Given the description of an element on the screen output the (x, y) to click on. 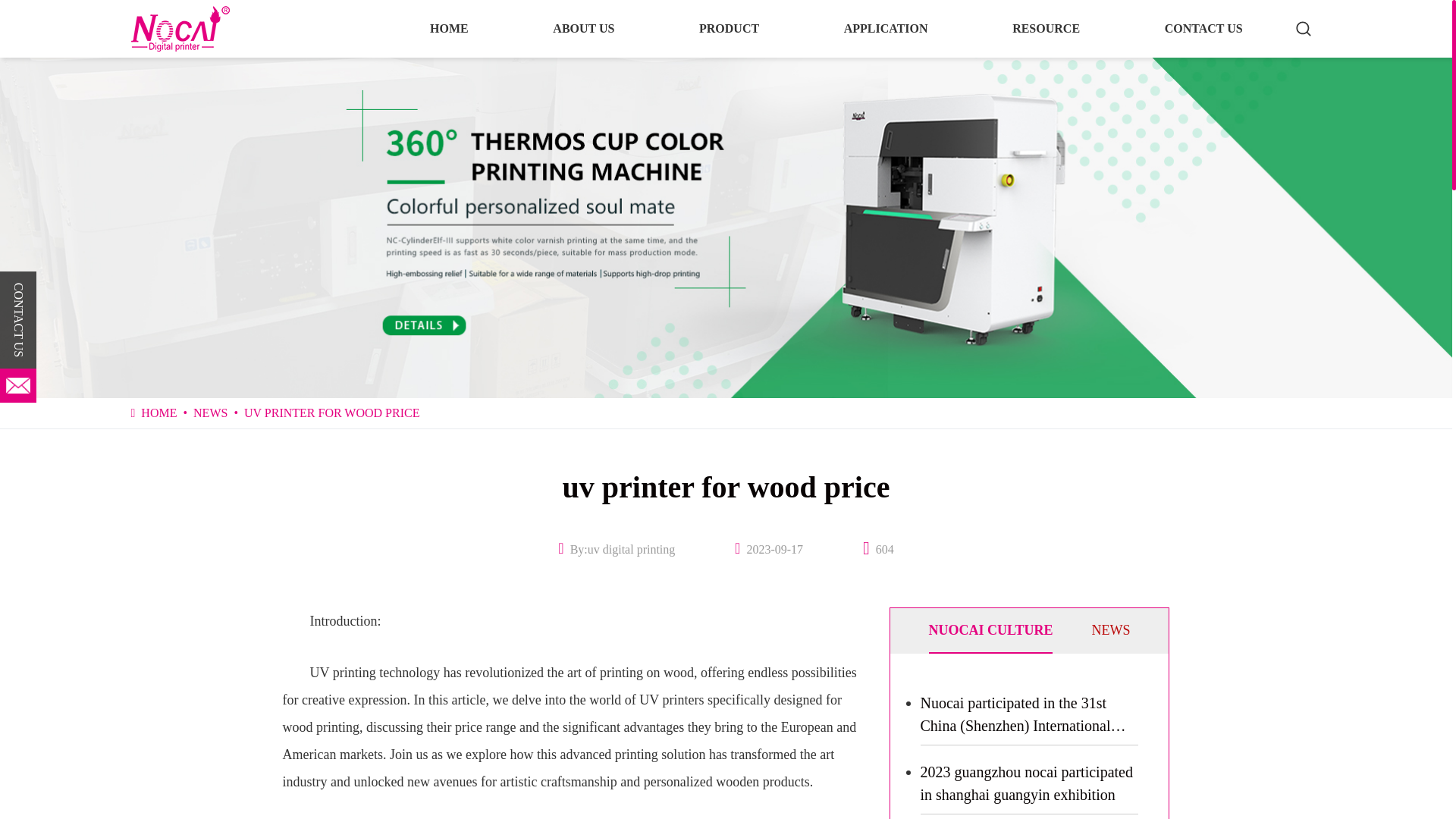
PRODUCT (729, 29)
APPLICATION (885, 29)
CONTACT US (1204, 29)
HOME (448, 29)
ABOUT US (583, 29)
PRODUCT (729, 29)
APPLICATION (885, 29)
NUOCAI CULTURE (990, 629)
NEWS (1109, 629)
